Given the description of an element on the screen output the (x, y) to click on. 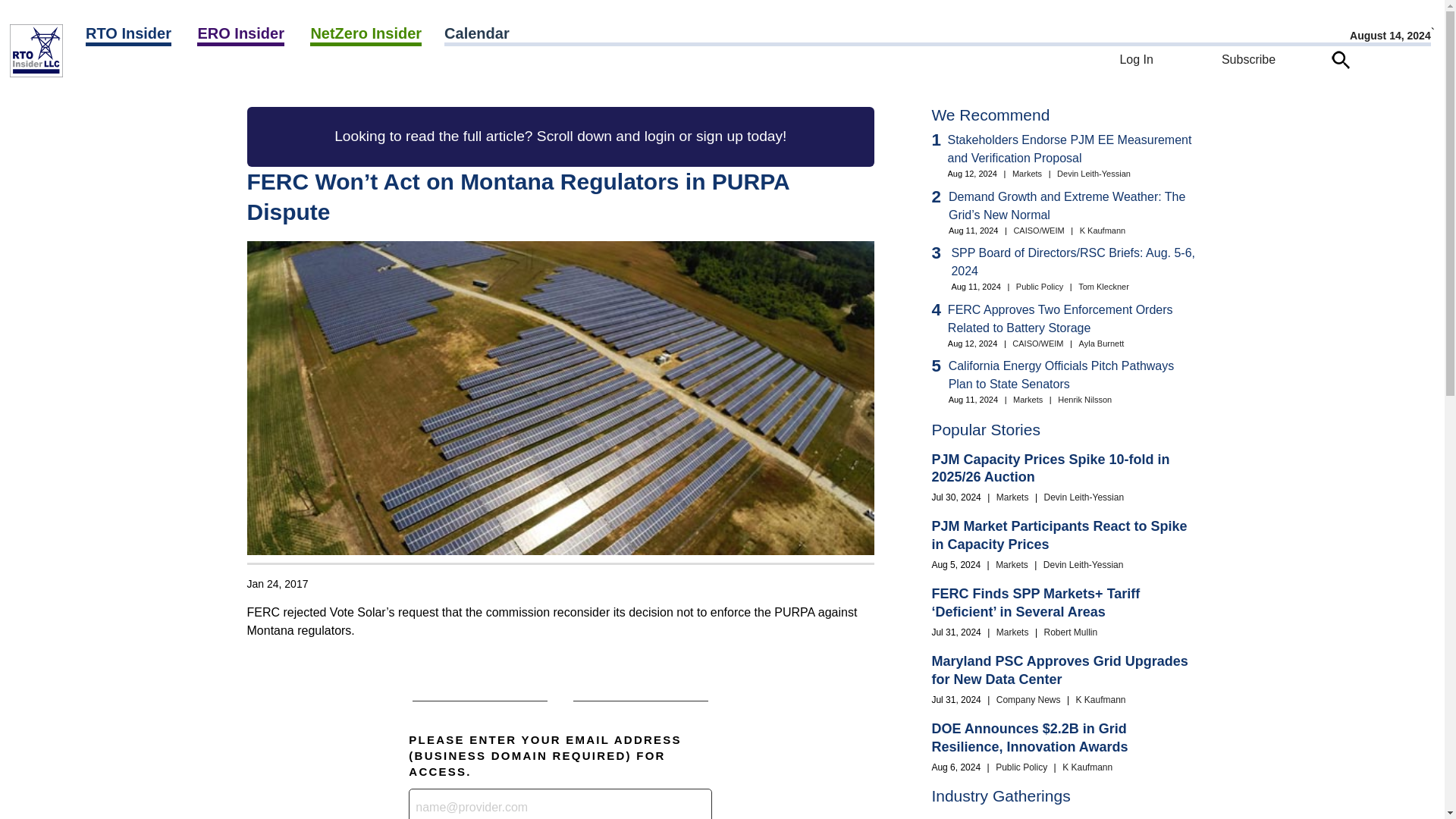
RTO Insider (128, 34)
MISO (182, 72)
ISO-NE (178, 72)
ERCOT (168, 72)
